Given the description of an element on the screen output the (x, y) to click on. 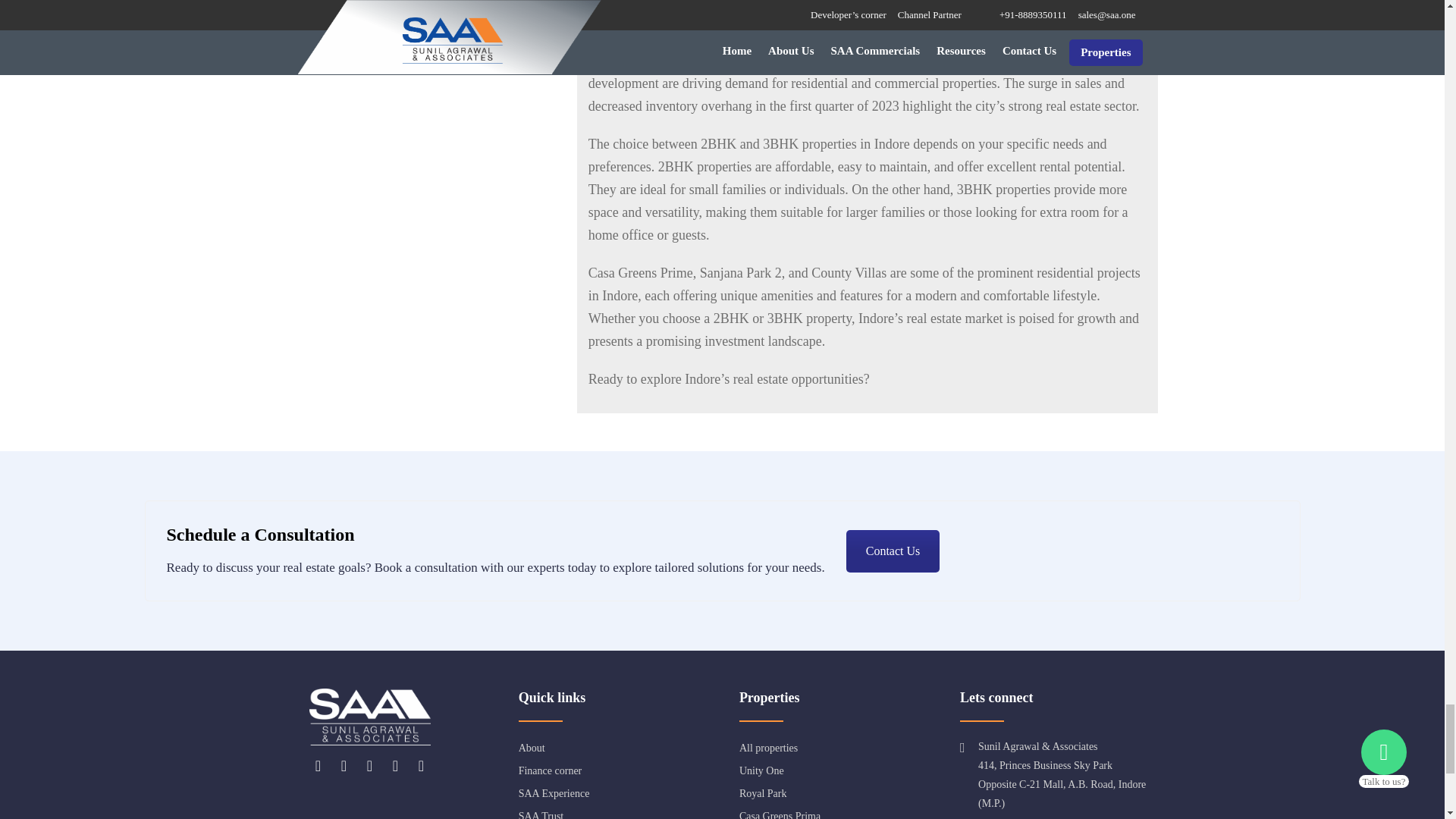
youtube (394, 765)
Contact Us (892, 550)
facebook (317, 765)
instagram (420, 765)
linkedin (368, 765)
twitter (343, 765)
Contact Us (892, 550)
